Given the description of an element on the screen output the (x, y) to click on. 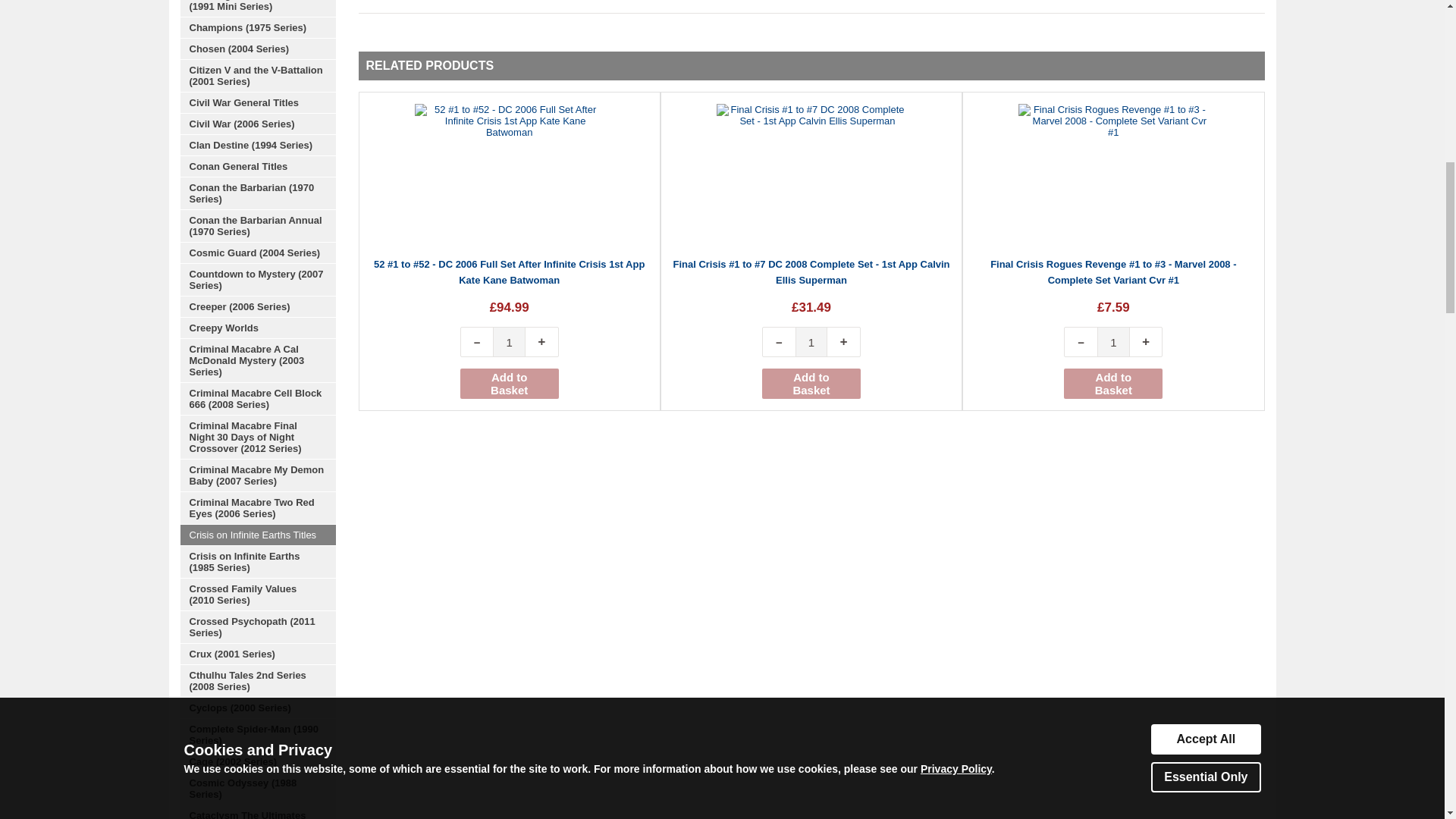
1 (509, 341)
1 (1113, 341)
1 (811, 341)
